Given the description of an element on the screen output the (x, y) to click on. 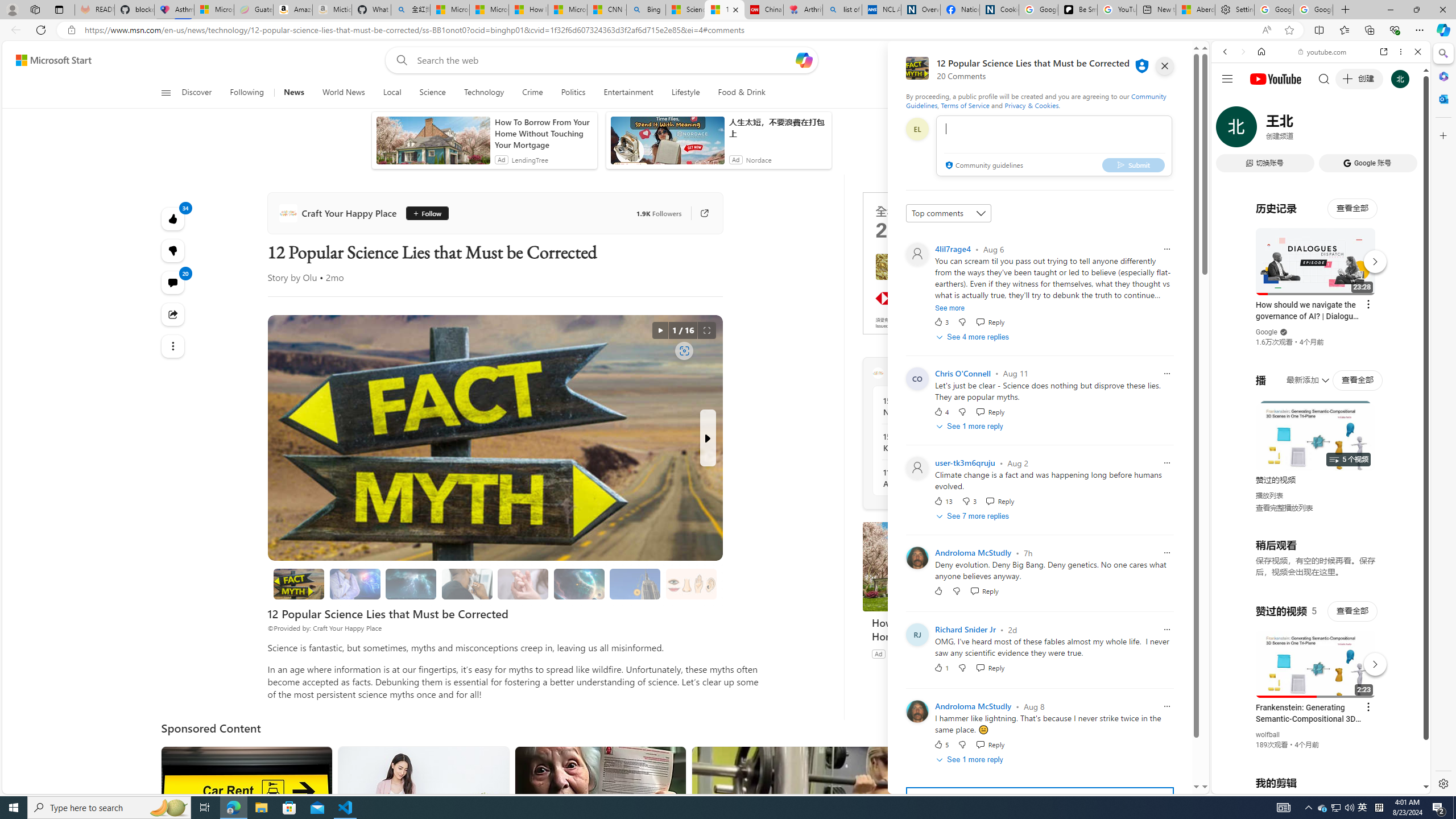
Privacy & Cookies (1031, 104)
11 U.S. Cities Where Home Prices Are Not Worth the Cost (944, 477)
Terminal Velocity of Falling Objects (635, 583)
YouTube - YouTube (1315, 560)
